Given the description of an element on the screen output the (x, y) to click on. 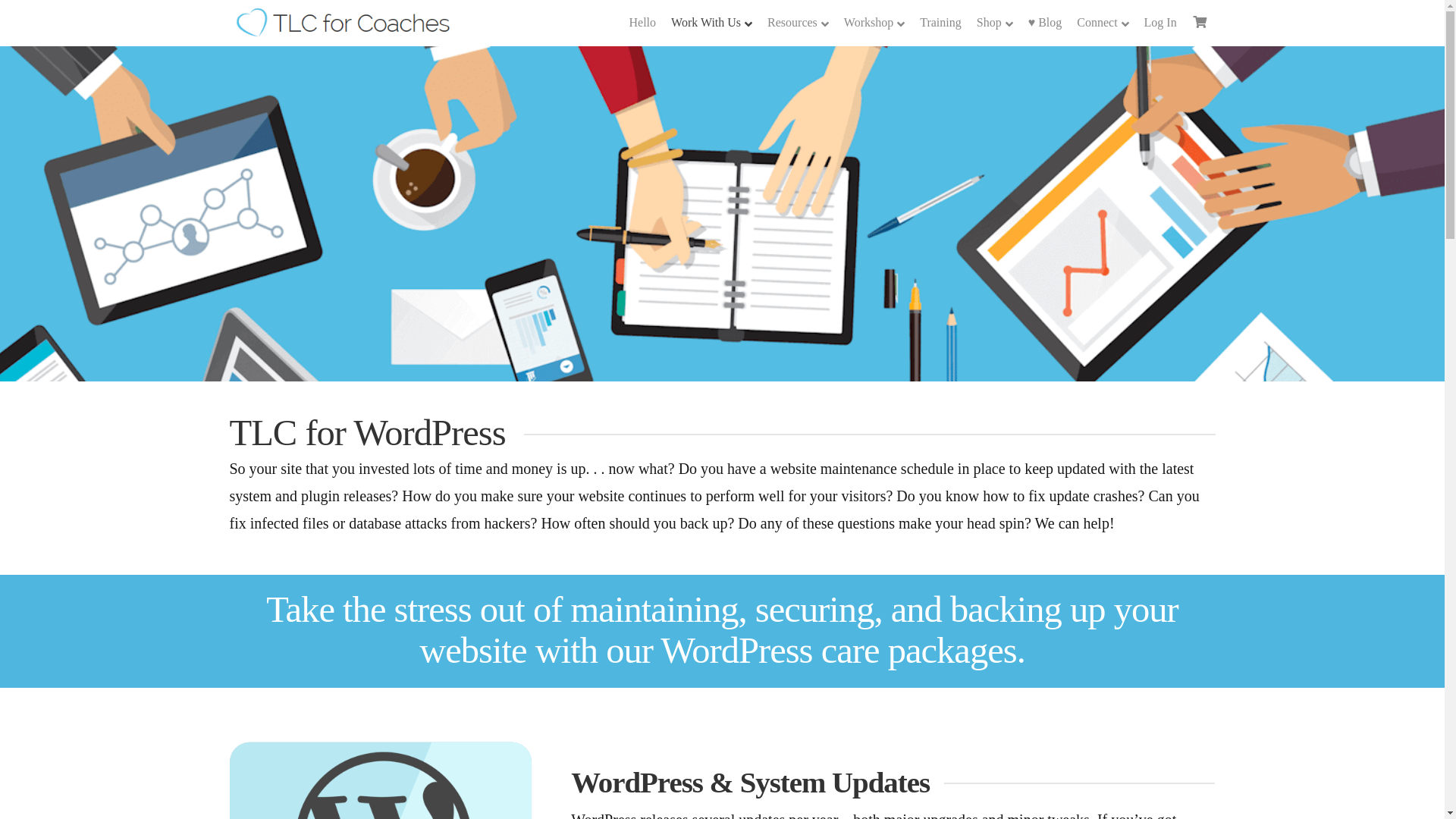
Connect (1101, 22)
Log In (1161, 22)
Shop (994, 22)
Resources (797, 22)
Work With Us (711, 22)
Training (940, 22)
Hello (642, 22)
My Cart (1200, 21)
My Cart (1200, 21)
Workshop (873, 22)
My Cart (1200, 22)
